Given the description of an element on the screen output the (x, y) to click on. 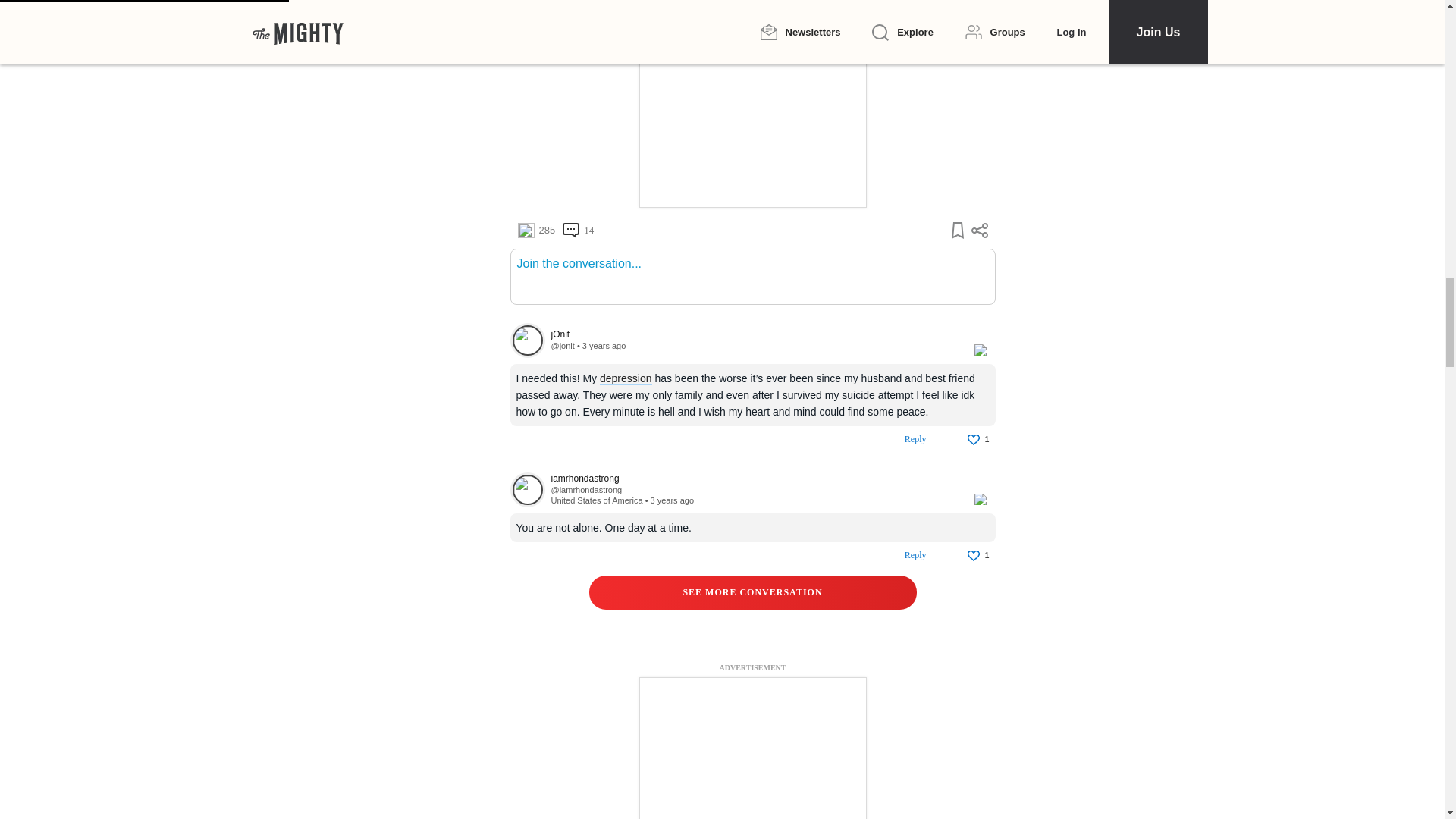
depression (625, 378)
View their profile (526, 339)
View their profile (561, 345)
285 (535, 230)
View their profile (585, 489)
View their profile (754, 479)
View their profile (526, 489)
View their profile (754, 334)
